Given the description of an element on the screen output the (x, y) to click on. 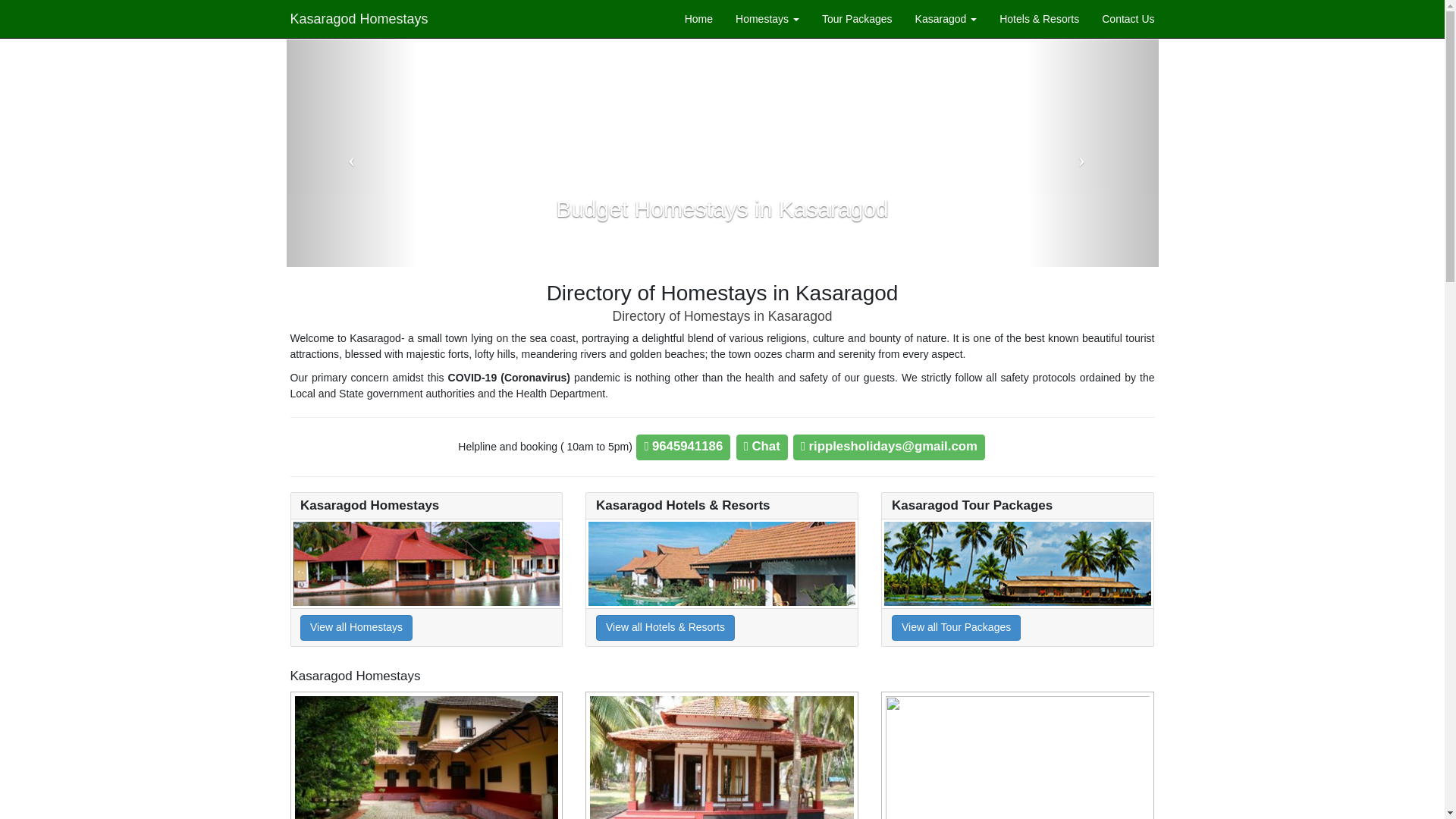
View all Homestays (355, 627)
View all Tour Packages (955, 627)
Kasaragod Homestays (359, 11)
Homestays (766, 18)
Budget Homestays in Kasaragod (722, 208)
 9645941186 (684, 446)
Contact Us (1128, 18)
Kasaragod (946, 18)
Home (697, 18)
